Given the description of an element on the screen output the (x, y) to click on. 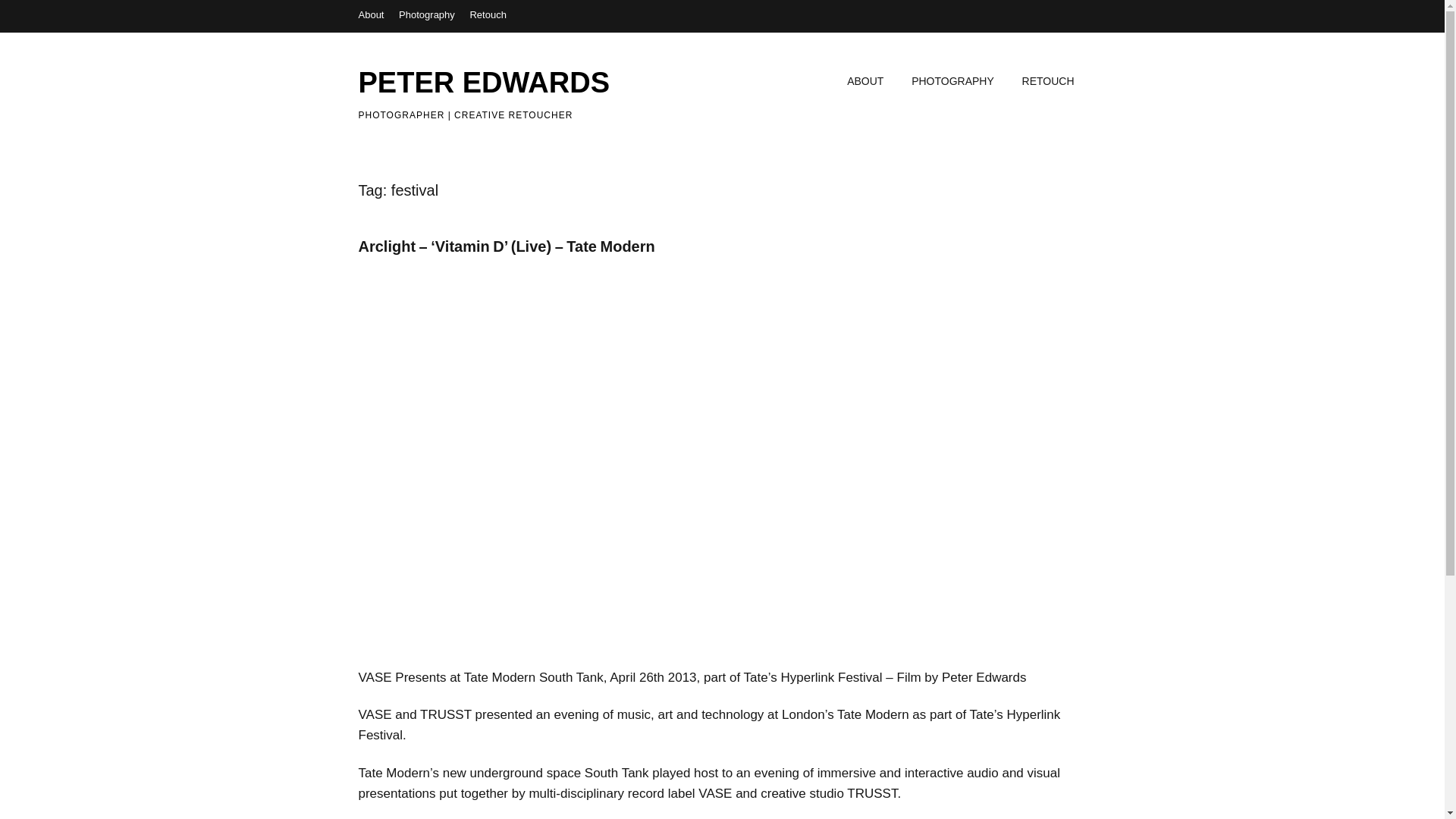
Photography (426, 14)
About (371, 14)
ABOUT (864, 81)
PETER EDWARDS (483, 82)
Retouch (486, 14)
RETOUCH (1048, 81)
PHOTOGRAPHY (952, 81)
